Given the description of an element on the screen output the (x, y) to click on. 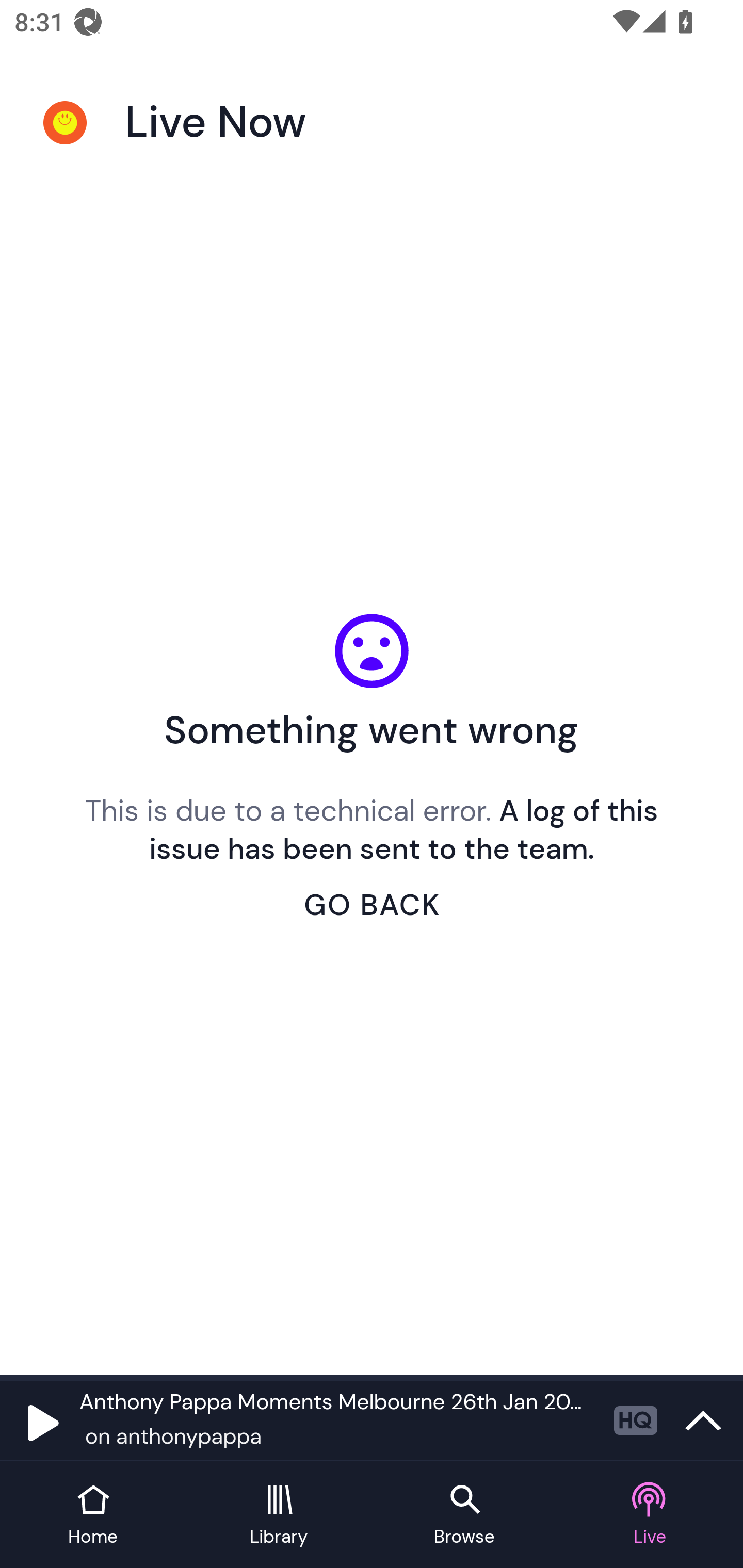
GO BACK (371, 904)
Home tab Home (92, 1515)
Library tab Library (278, 1515)
Browse tab Browse (464, 1515)
Live tab Live (650, 1515)
